Given the description of an element on the screen output the (x, y) to click on. 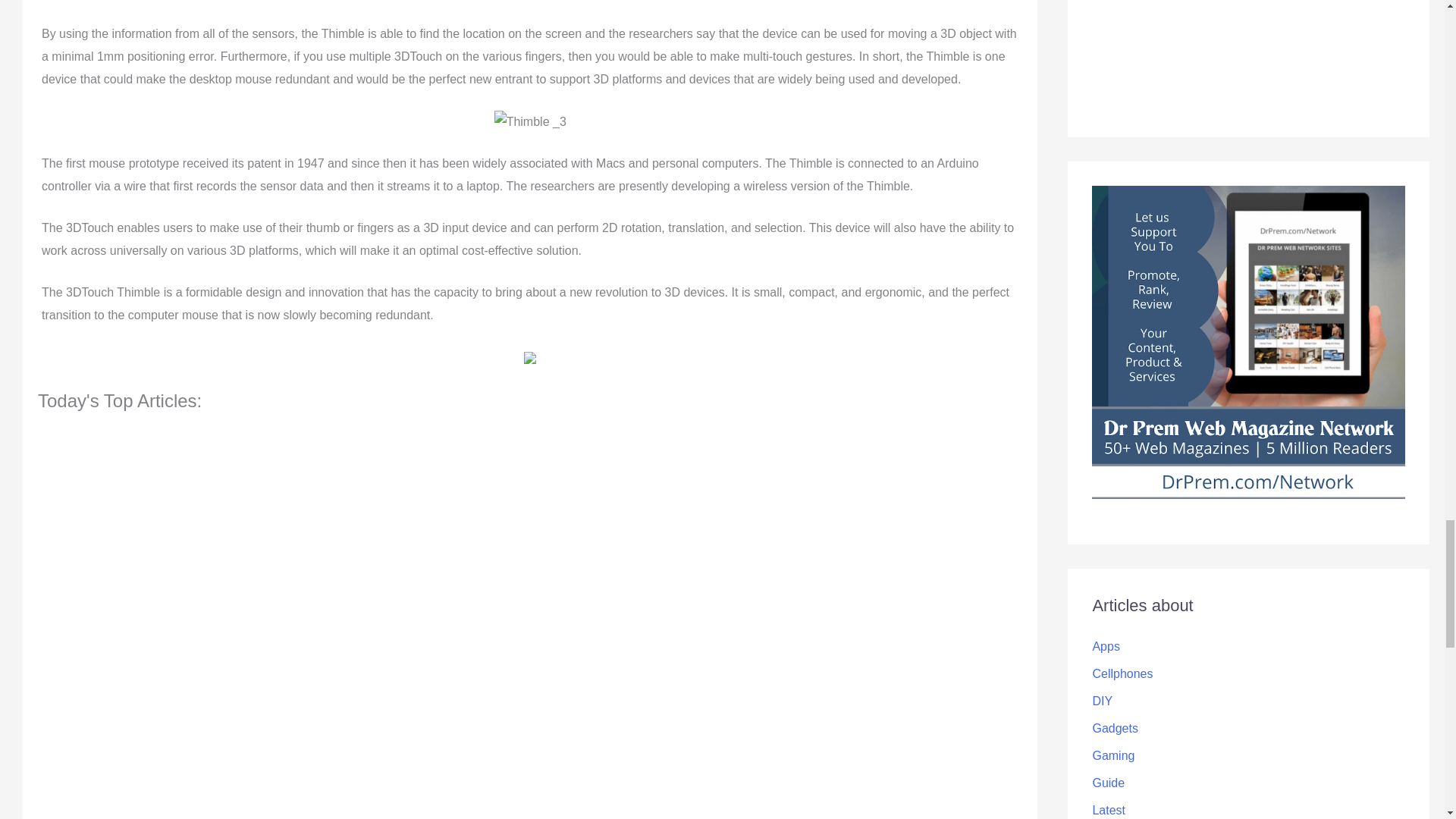
Apps (1105, 645)
